Given the description of an element on the screen output the (x, y) to click on. 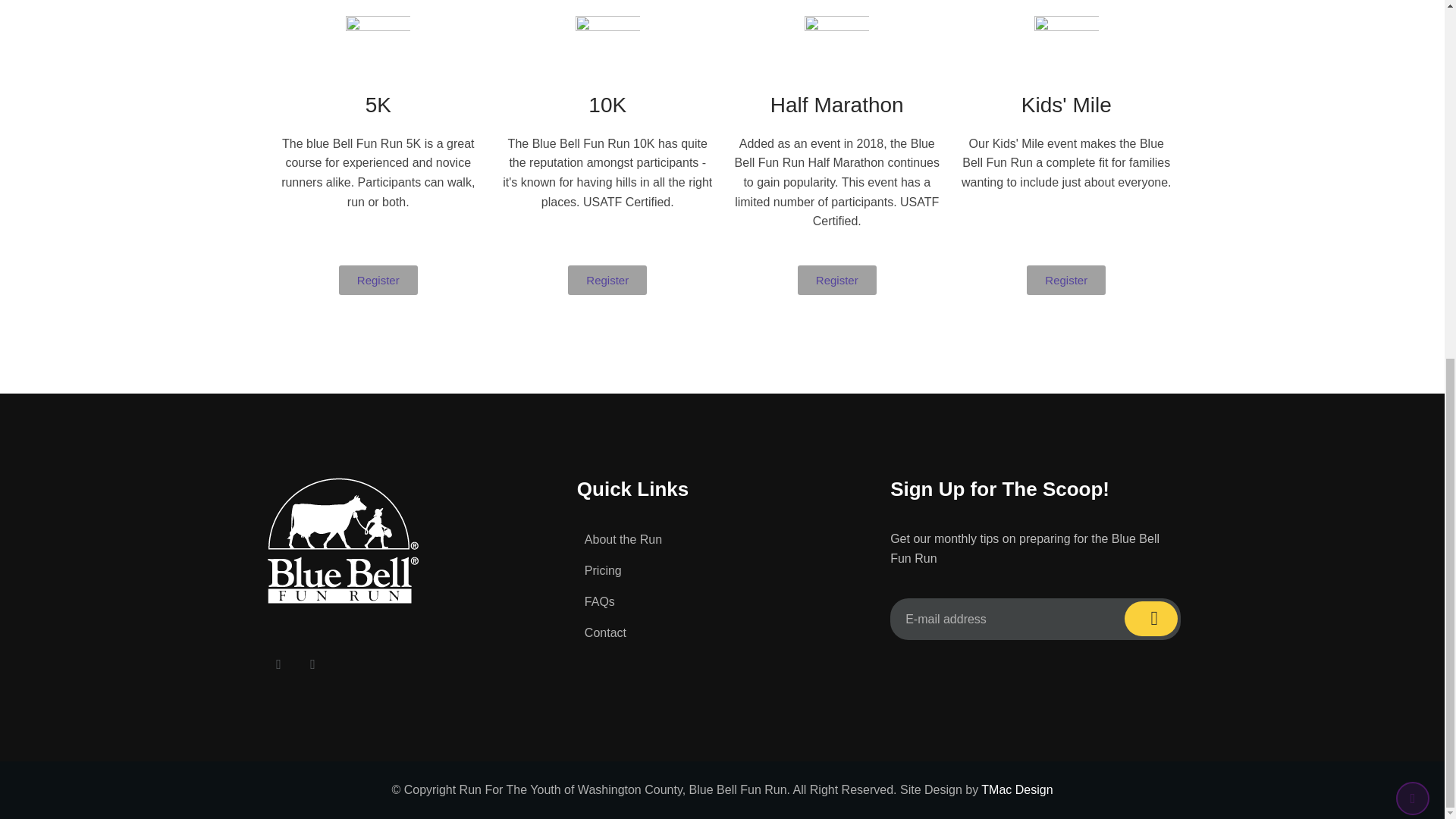
FAQs (599, 601)
About the Run (623, 539)
Subscribe (1150, 618)
Register (606, 279)
10K (607, 105)
Kids' Mile (1067, 105)
Register (378, 279)
5K (378, 105)
Pricing (603, 570)
Half Marathon (837, 105)
